Given the description of an element on the screen output the (x, y) to click on. 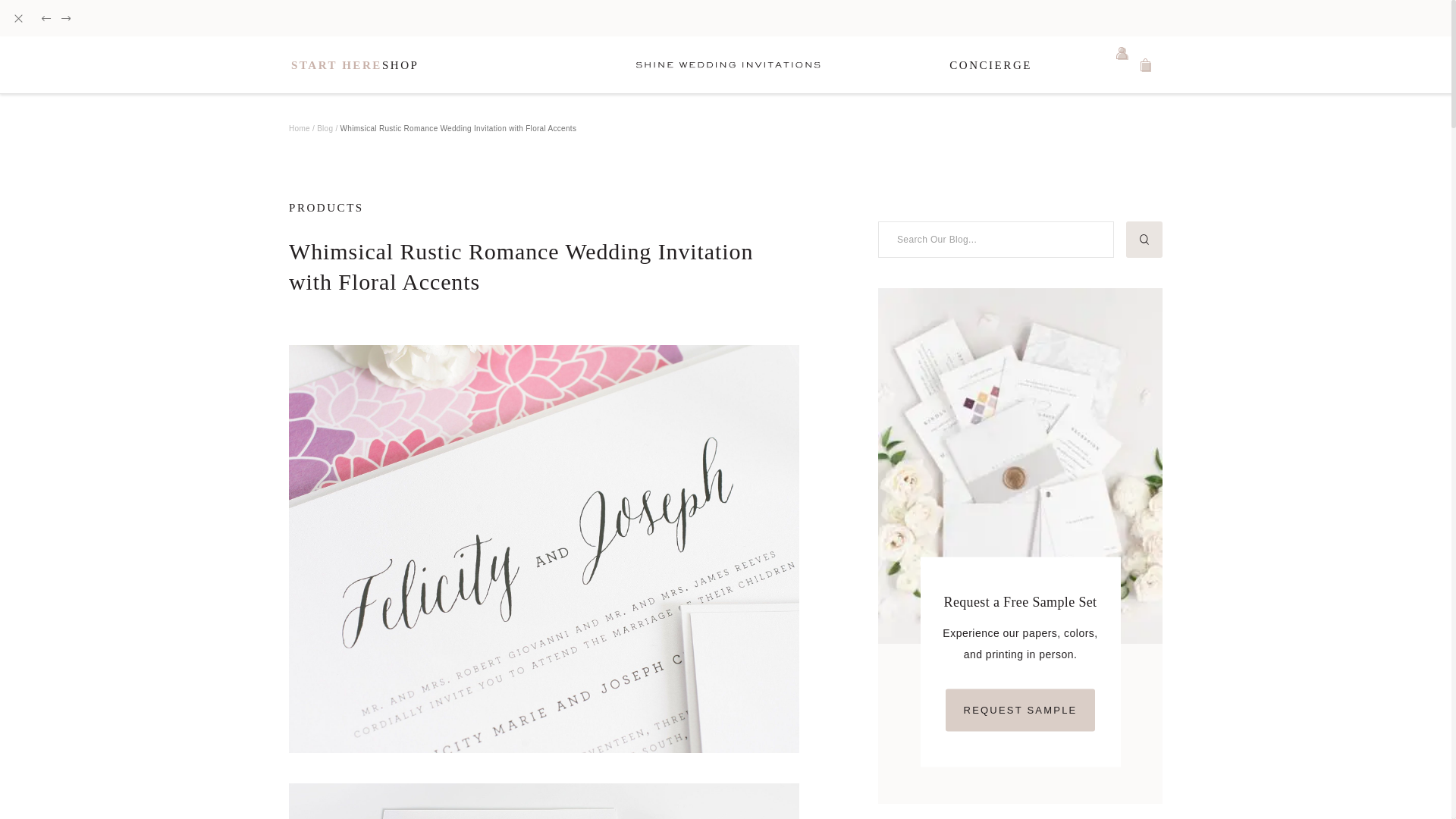
Blog (325, 126)
START HERE (336, 65)
CONCIERGE (990, 65)
Home (299, 126)
SHOP (400, 65)
